Given the description of an element on the screen output the (x, y) to click on. 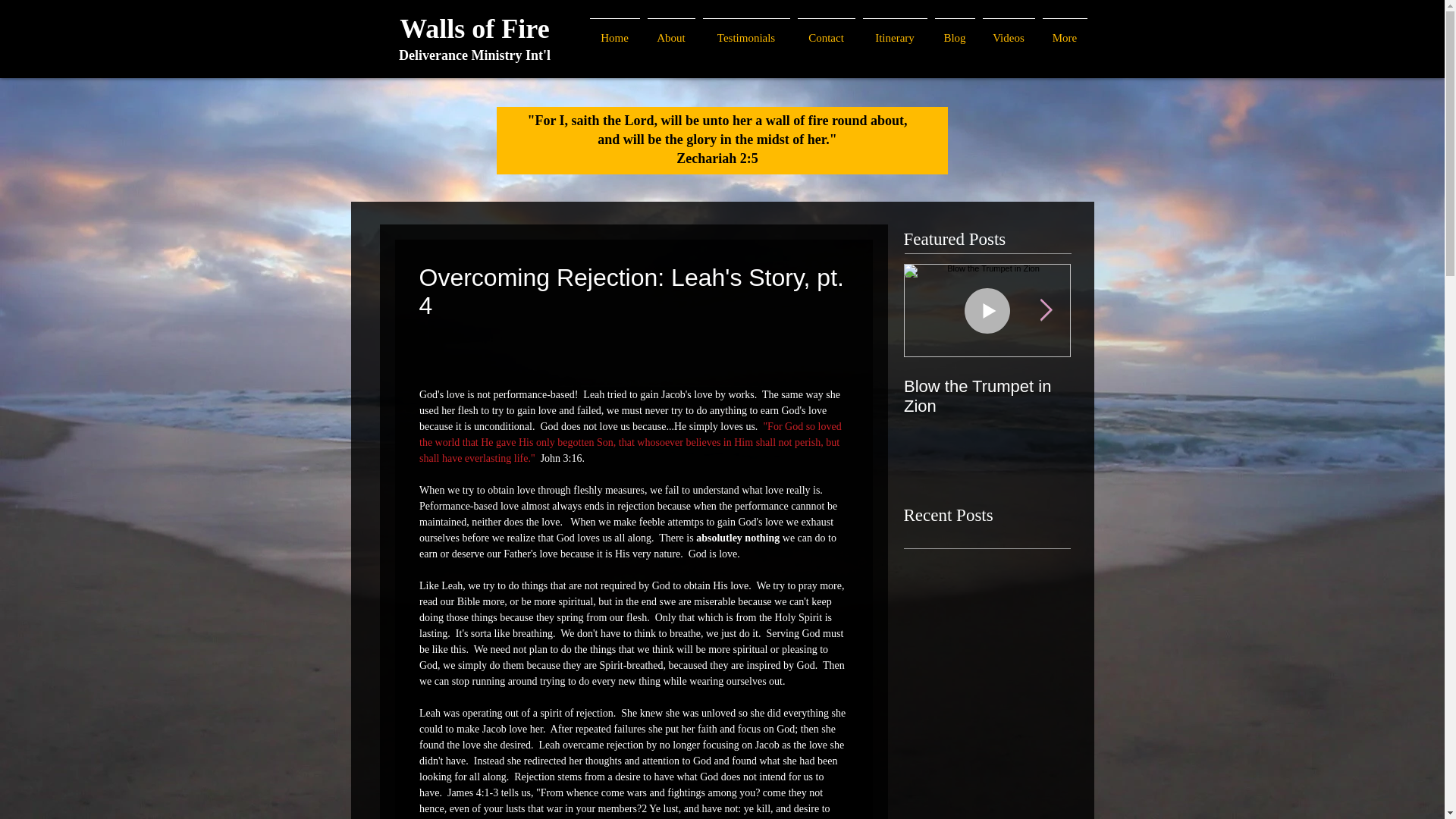
About (670, 31)
Blog (954, 31)
Home (614, 31)
Lamentations 2:3 "A Day of Mourning and Woe" (1153, 405)
Testimonials (745, 31)
Contact (826, 31)
Videos (1008, 31)
Blow the Trumpet in Zion (987, 396)
Itinerary (894, 31)
